Given the description of an element on the screen output the (x, y) to click on. 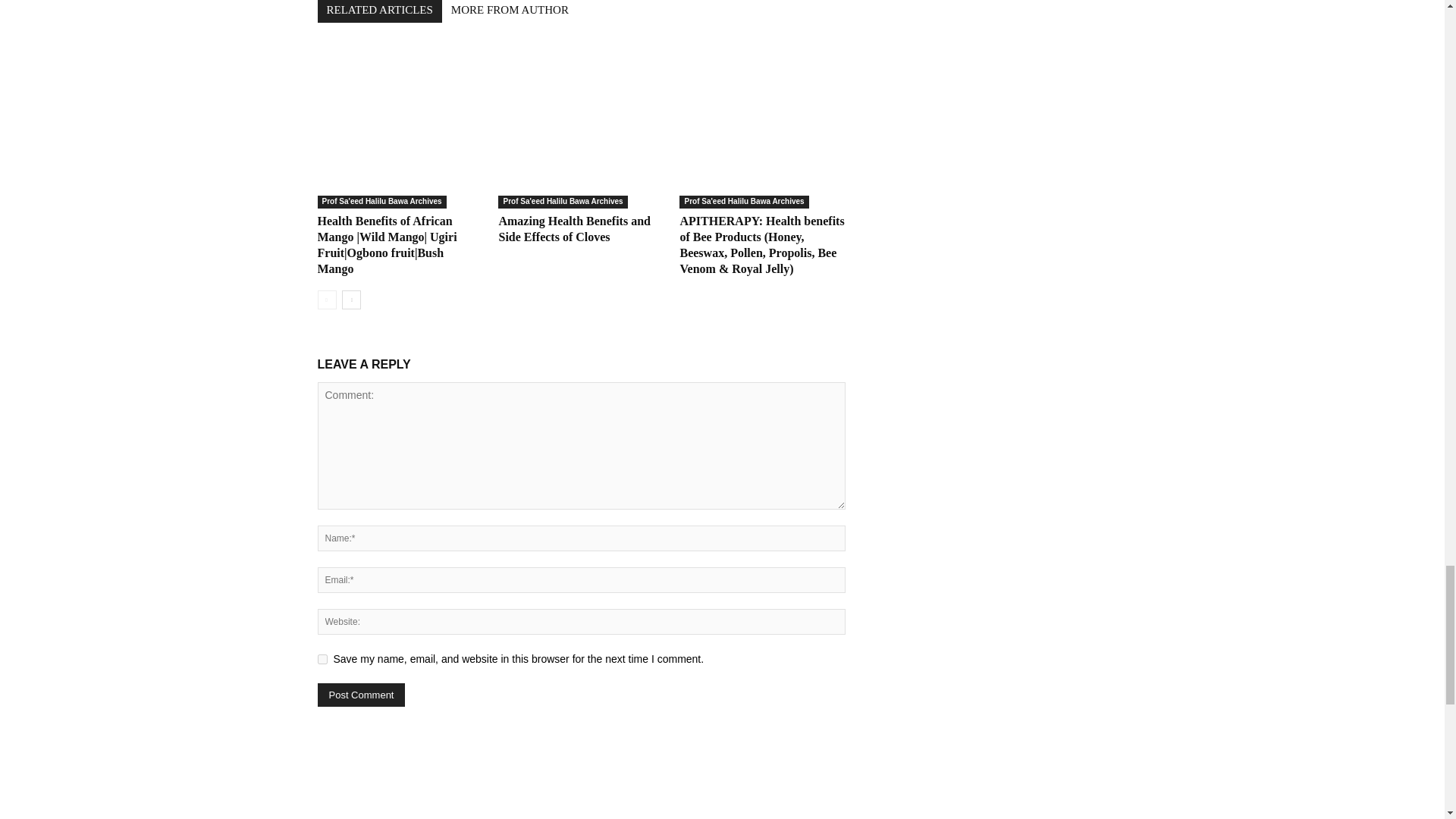
Post Comment (360, 694)
yes (321, 659)
